Given the description of an element on the screen output the (x, y) to click on. 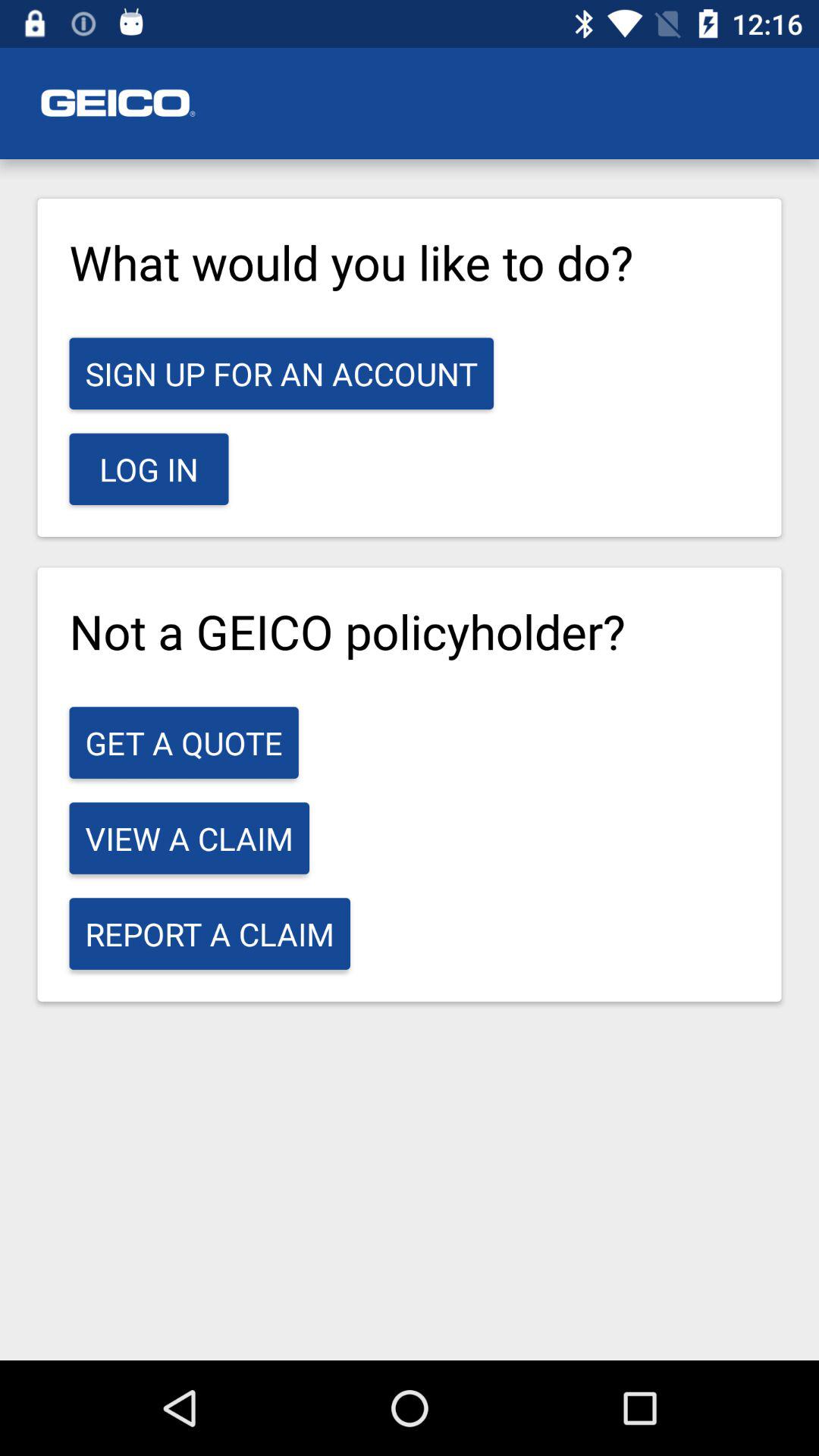
turn on the get a quote item (183, 742)
